Given the description of an element on the screen output the (x, y) to click on. 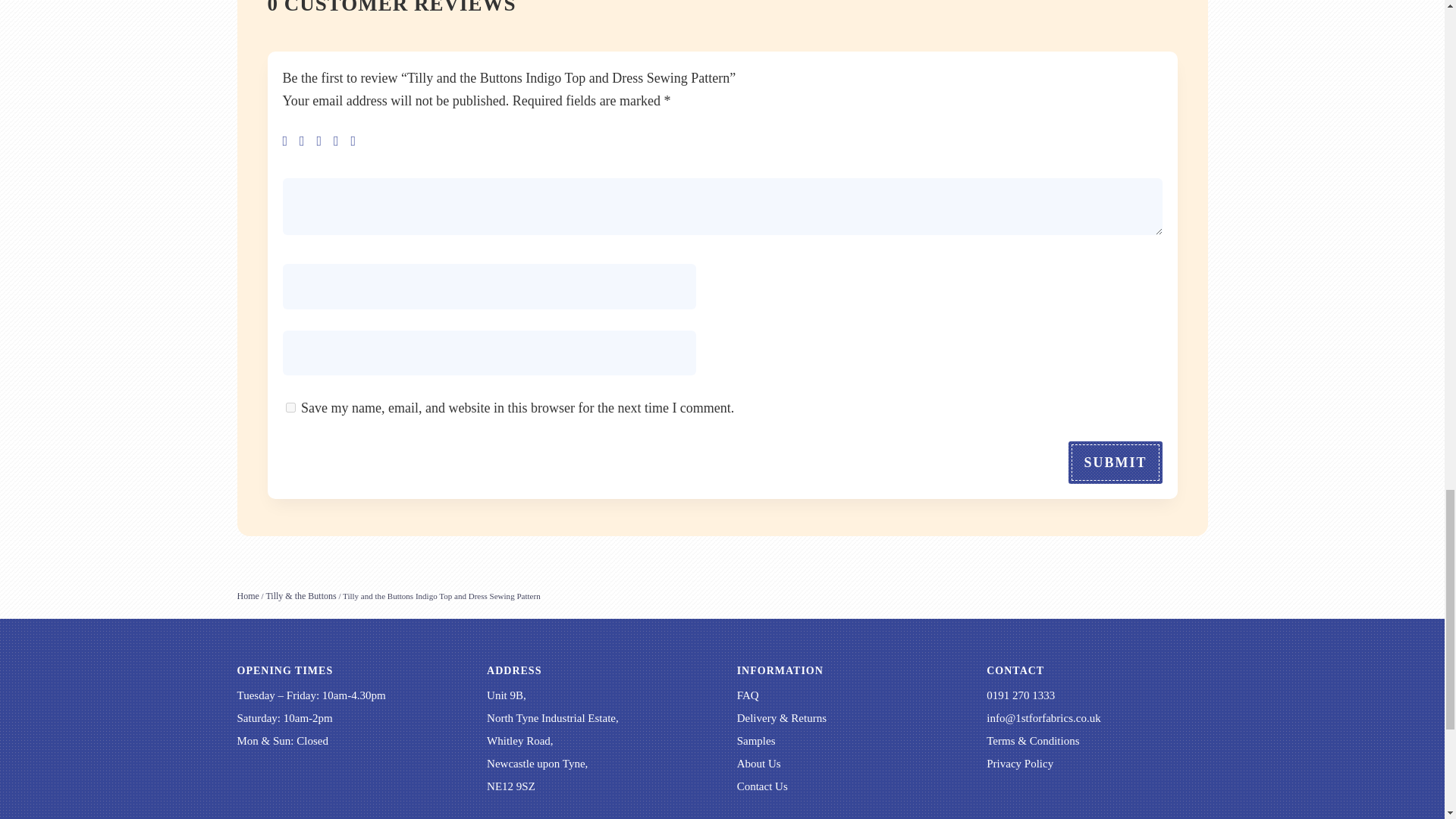
yes (290, 407)
